Given the description of an element on the screen output the (x, y) to click on. 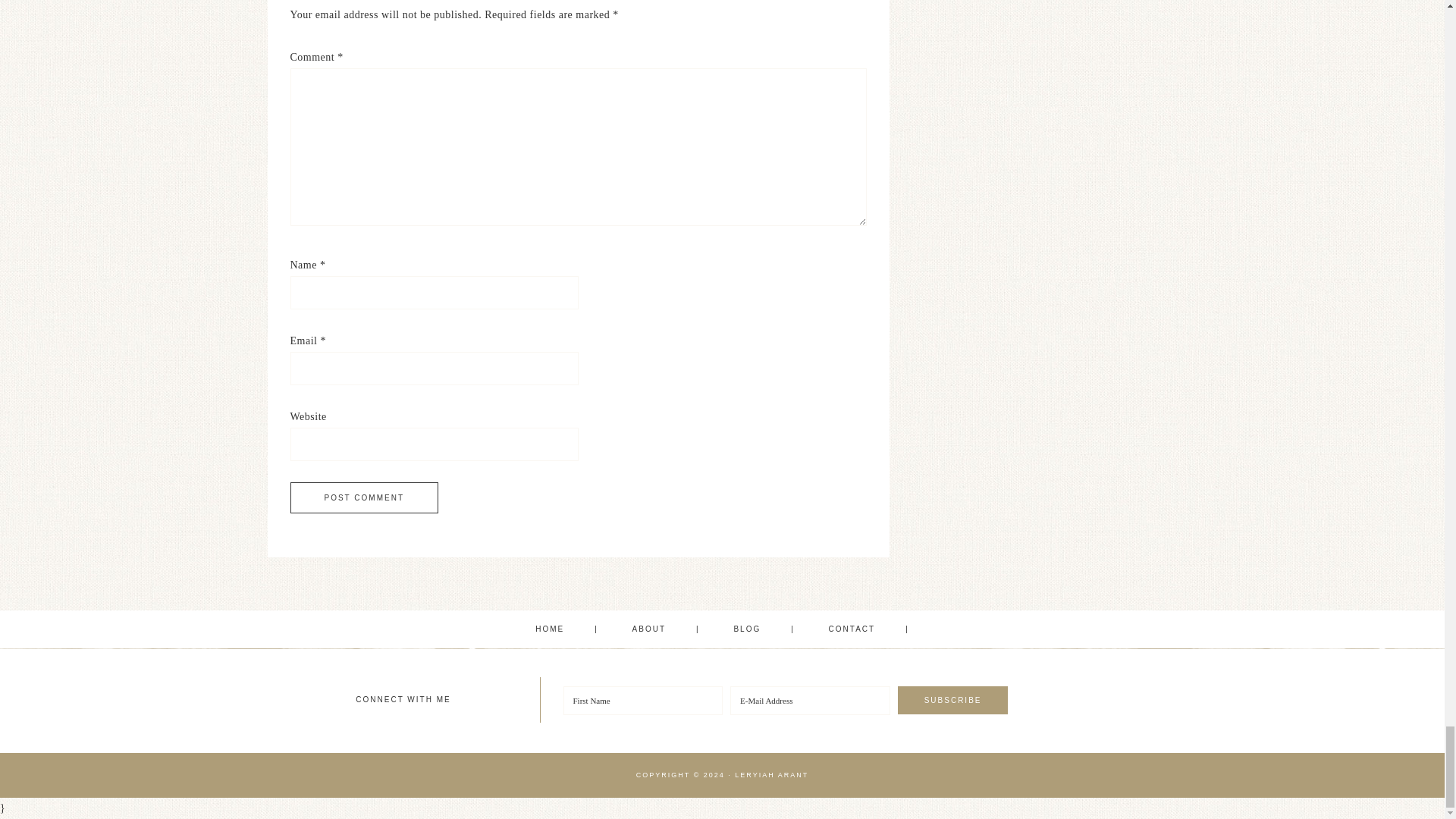
Post Comment (363, 497)
Subscribe (953, 700)
